Given the description of an element on the screen output the (x, y) to click on. 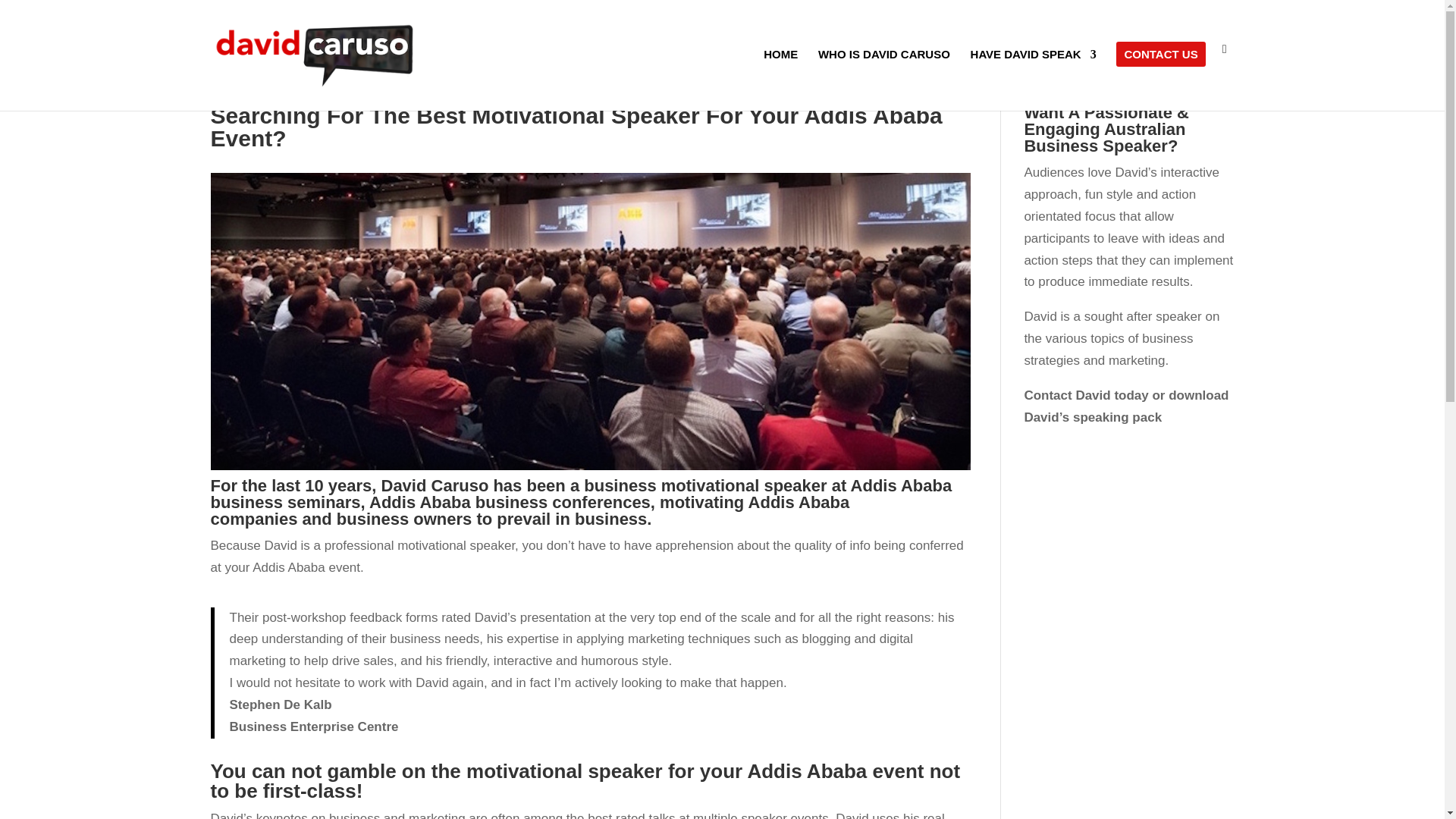
HAVE DAVID SPEAK (1033, 75)
Professional Business Speaker (1033, 75)
CONTACT US (1160, 75)
Digital Marketing Speaker (1160, 75)
WHO IS DAVID CARUSO (884, 75)
Business Keynote Speaker (884, 75)
